Given the description of an element on the screen output the (x, y) to click on. 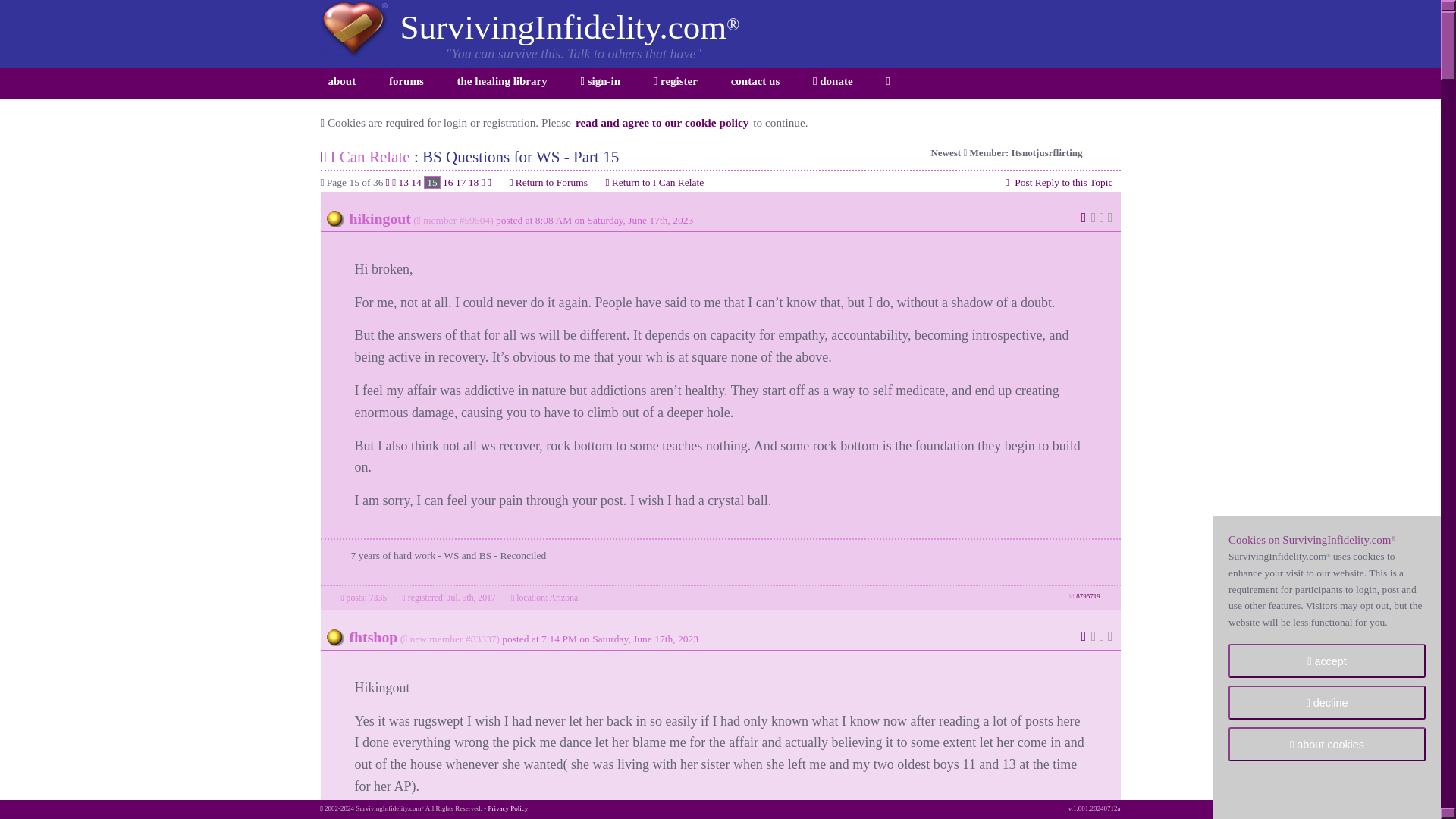
Post Reply to this Topic (1058, 182)
donate (832, 82)
sign-in (599, 82)
13 (403, 182)
I Can Relate (369, 157)
read and agree to our cookie policy (662, 122)
about (341, 82)
contact us (755, 82)
the healing library (501, 82)
forums (405, 82)
register (675, 82)
